Given the description of an element on the screen output the (x, y) to click on. 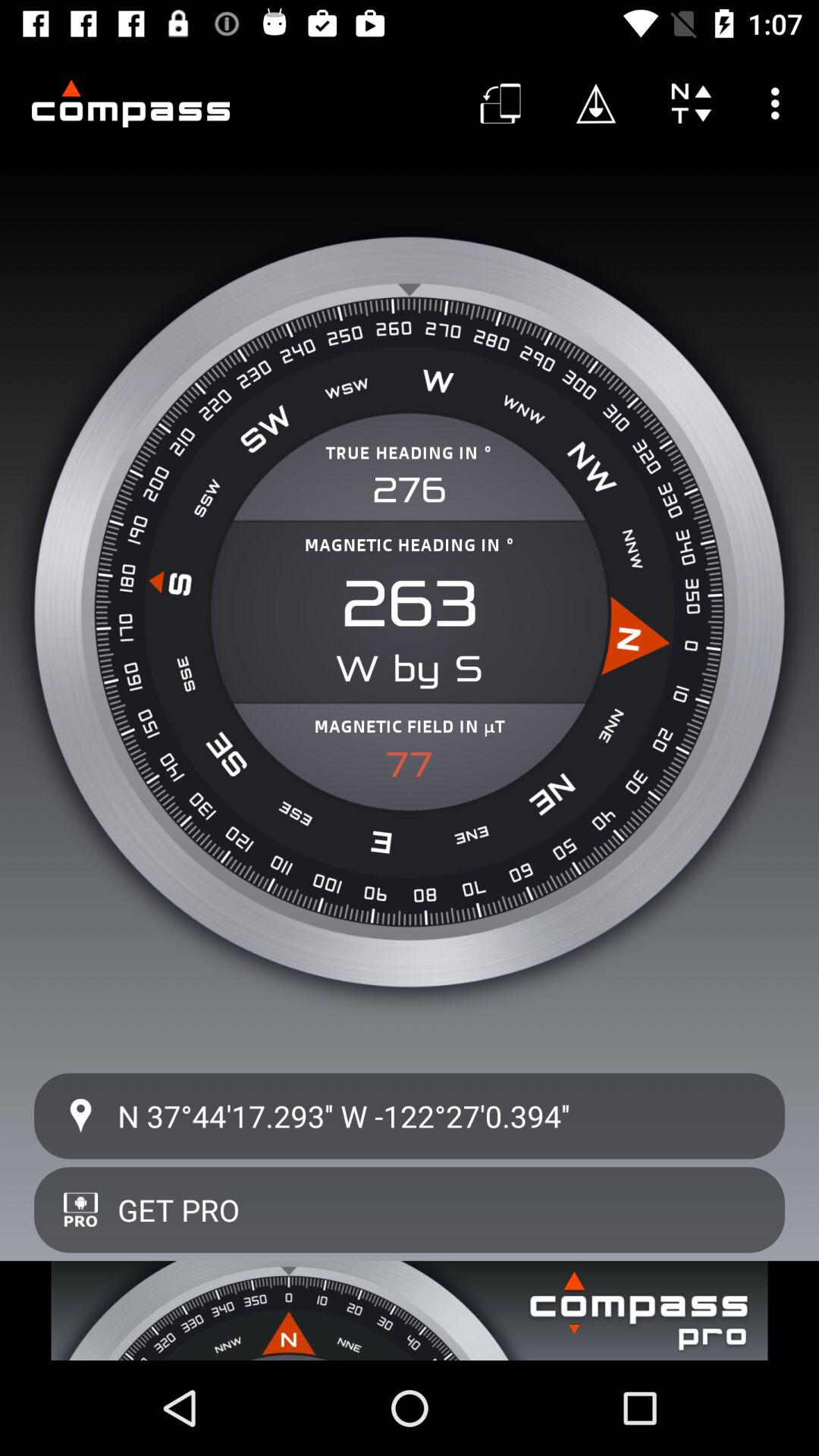
scroll to 262 item (409, 603)
